Given the description of an element on the screen output the (x, y) to click on. 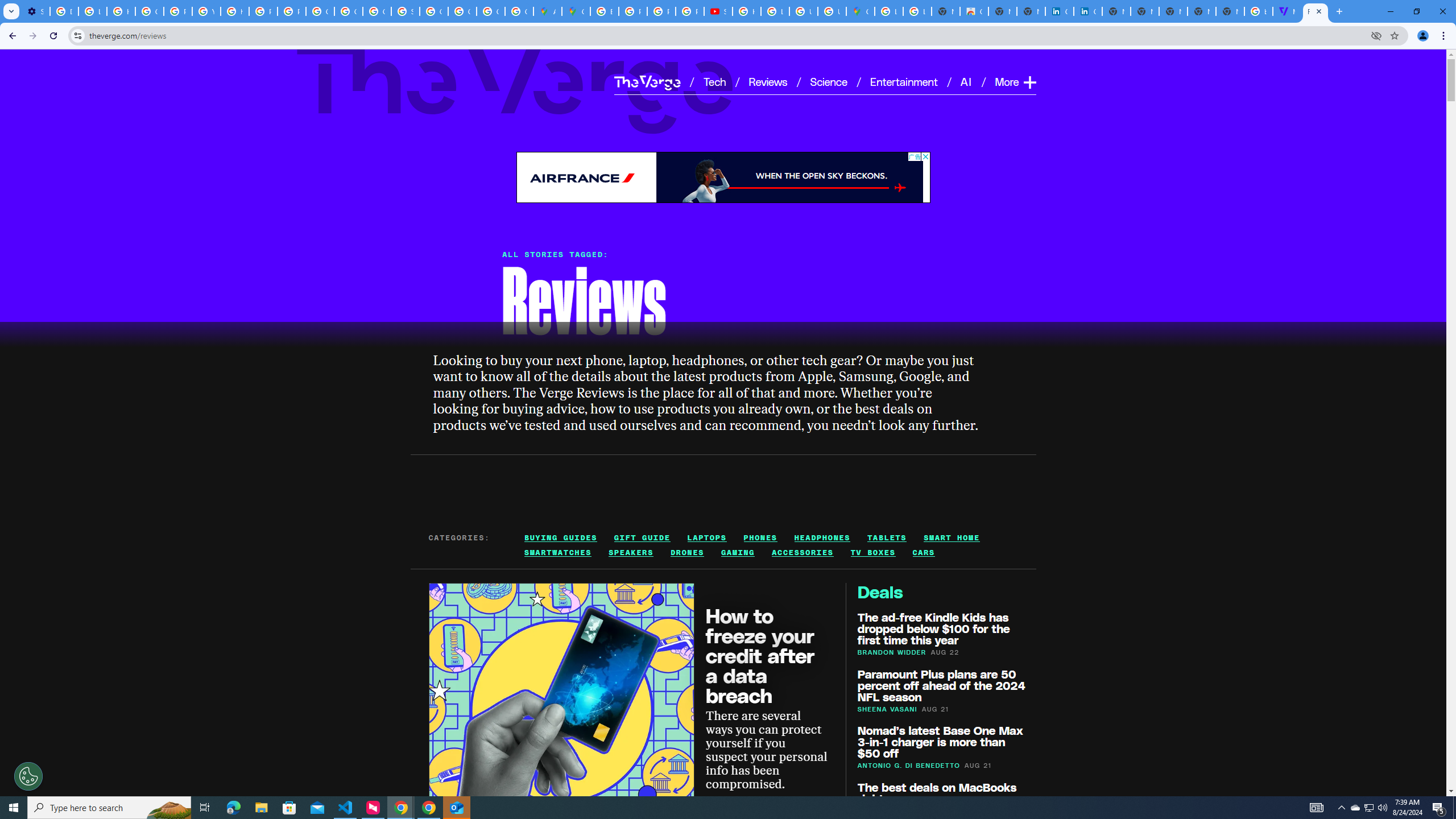
Entertainment (904, 81)
Subscriptions - YouTube (718, 11)
BUYING GUIDES (561, 537)
SMART HOME (951, 537)
BARBARA KRASNOFF (745, 797)
ACCESSORIES (802, 552)
BRANDON WIDDER (891, 652)
How Chrome protects your passwords - Google Chrome Help (746, 11)
